Given the description of an element on the screen output the (x, y) to click on. 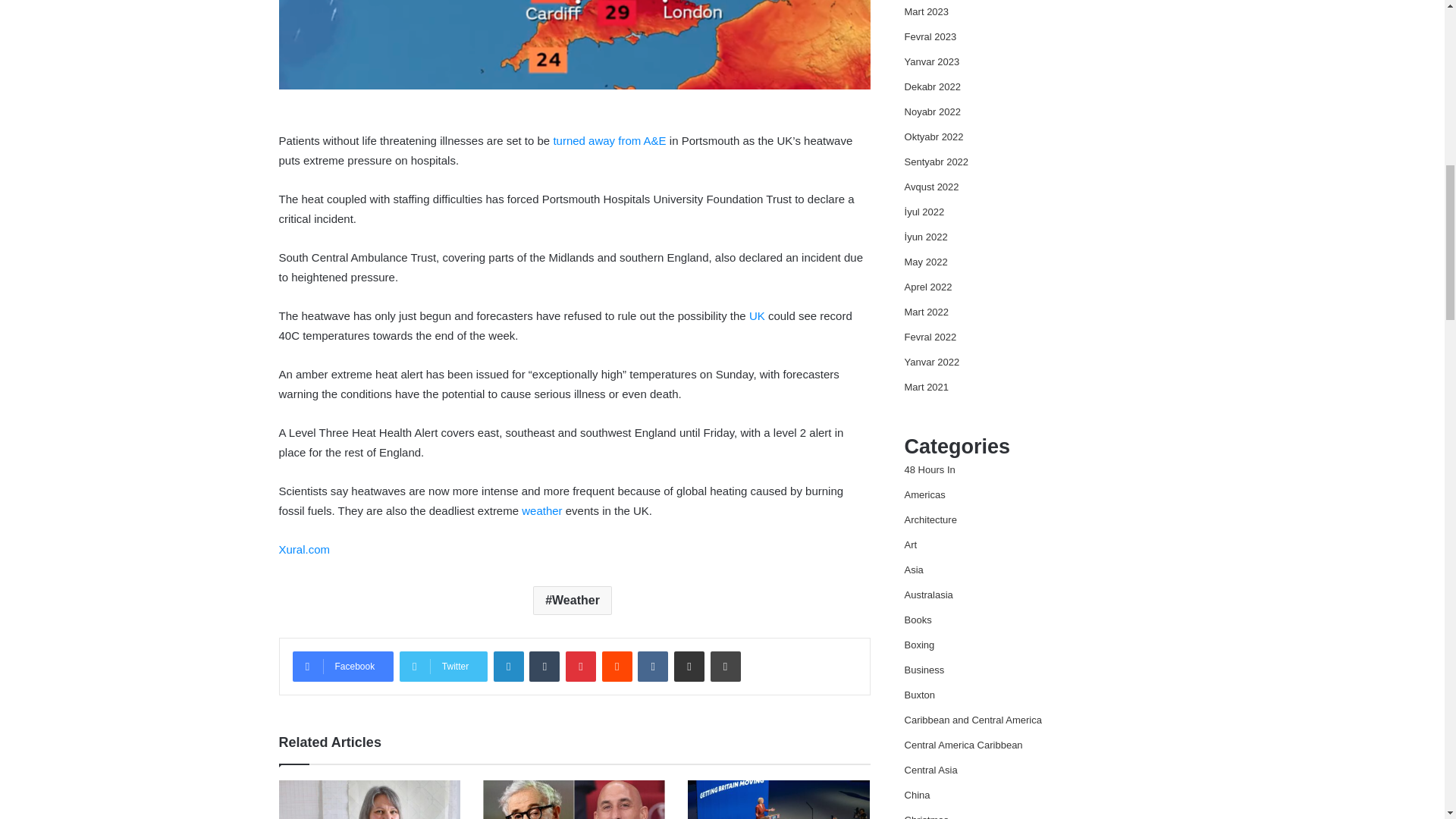
Pinterest (580, 666)
Reddit (616, 666)
Share via Email (689, 666)
Reddit (616, 666)
Twitter (442, 666)
Xural.com (304, 549)
Facebook (343, 666)
VKontakte (652, 666)
LinkedIn (508, 666)
weather (541, 510)
